Given the description of an element on the screen output the (x, y) to click on. 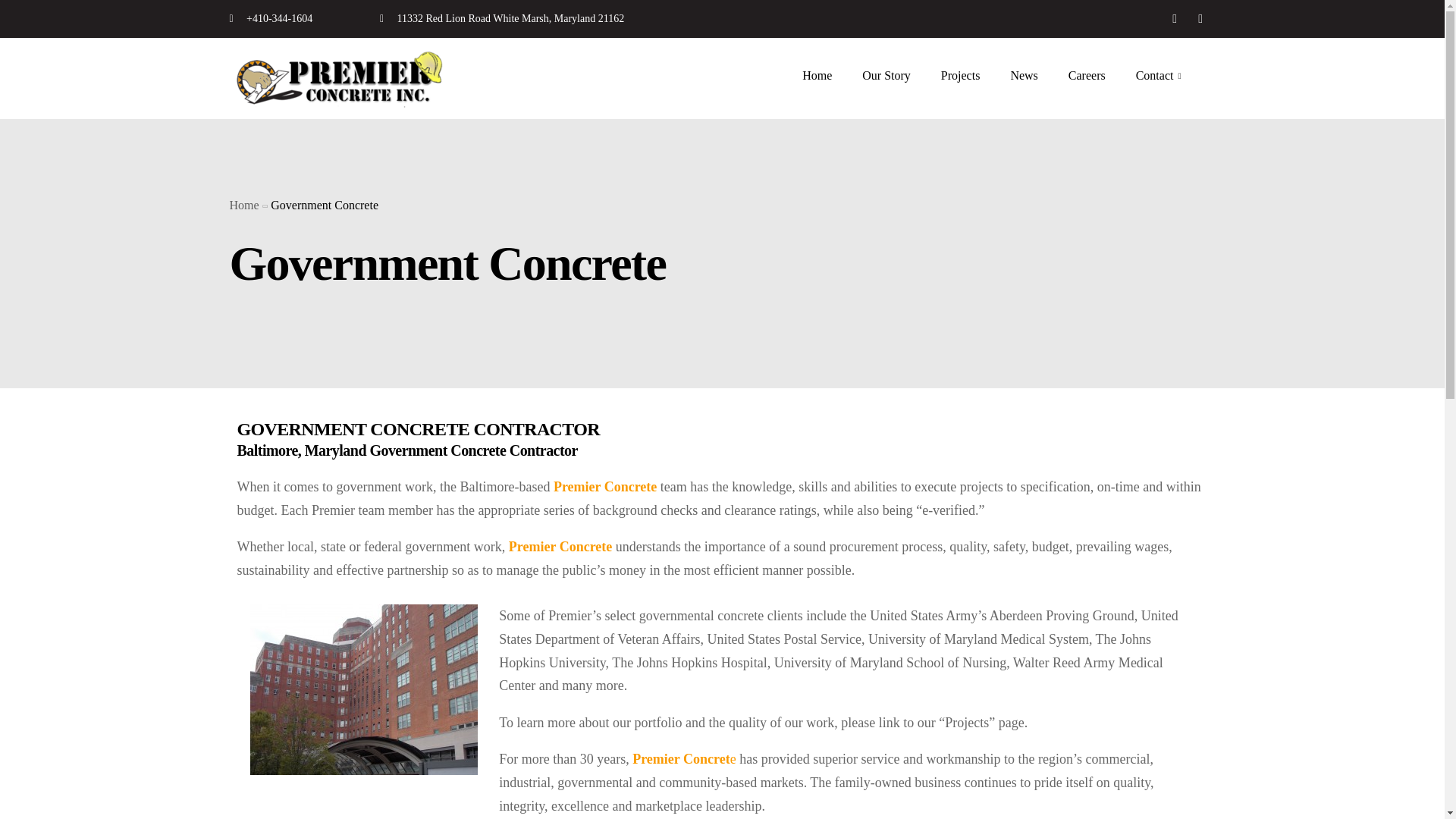
Premier Concrete Logo - Premier Concrete Inc. (342, 78)
11332 Red Lion Road White Marsh, Maryland 21162 (673, 18)
Home (243, 205)
